Given the description of an element on the screen output the (x, y) to click on. 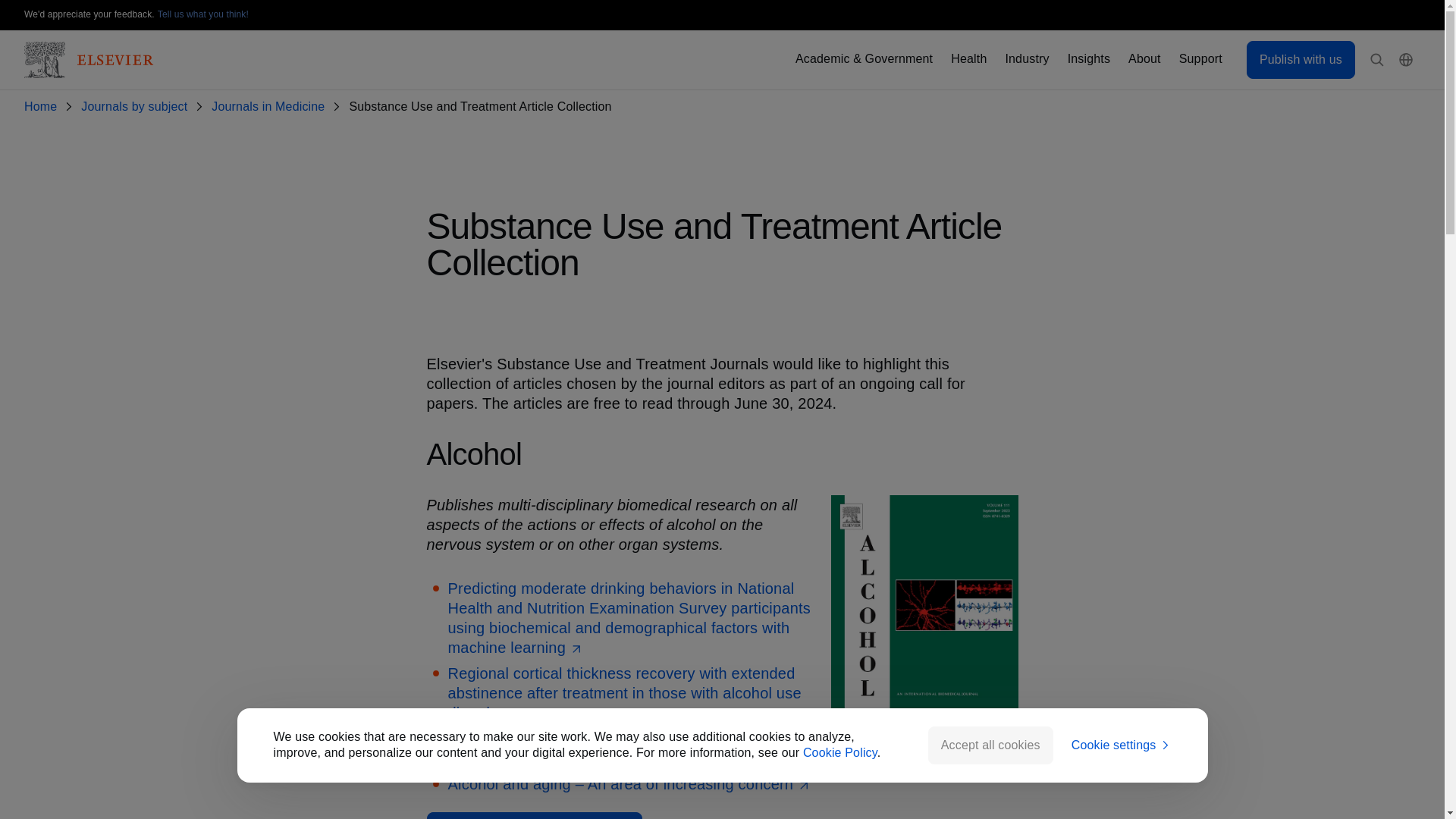
Home (43, 107)
Insights (1088, 59)
Support (1201, 59)
Journals in Medicine (270, 107)
Publish with us (1300, 59)
Journals by subject (137, 107)
Cookie settings (1121, 745)
Health (968, 59)
Open Search (1376, 59)
Industry (1026, 59)
